Given the description of an element on the screen output the (x, y) to click on. 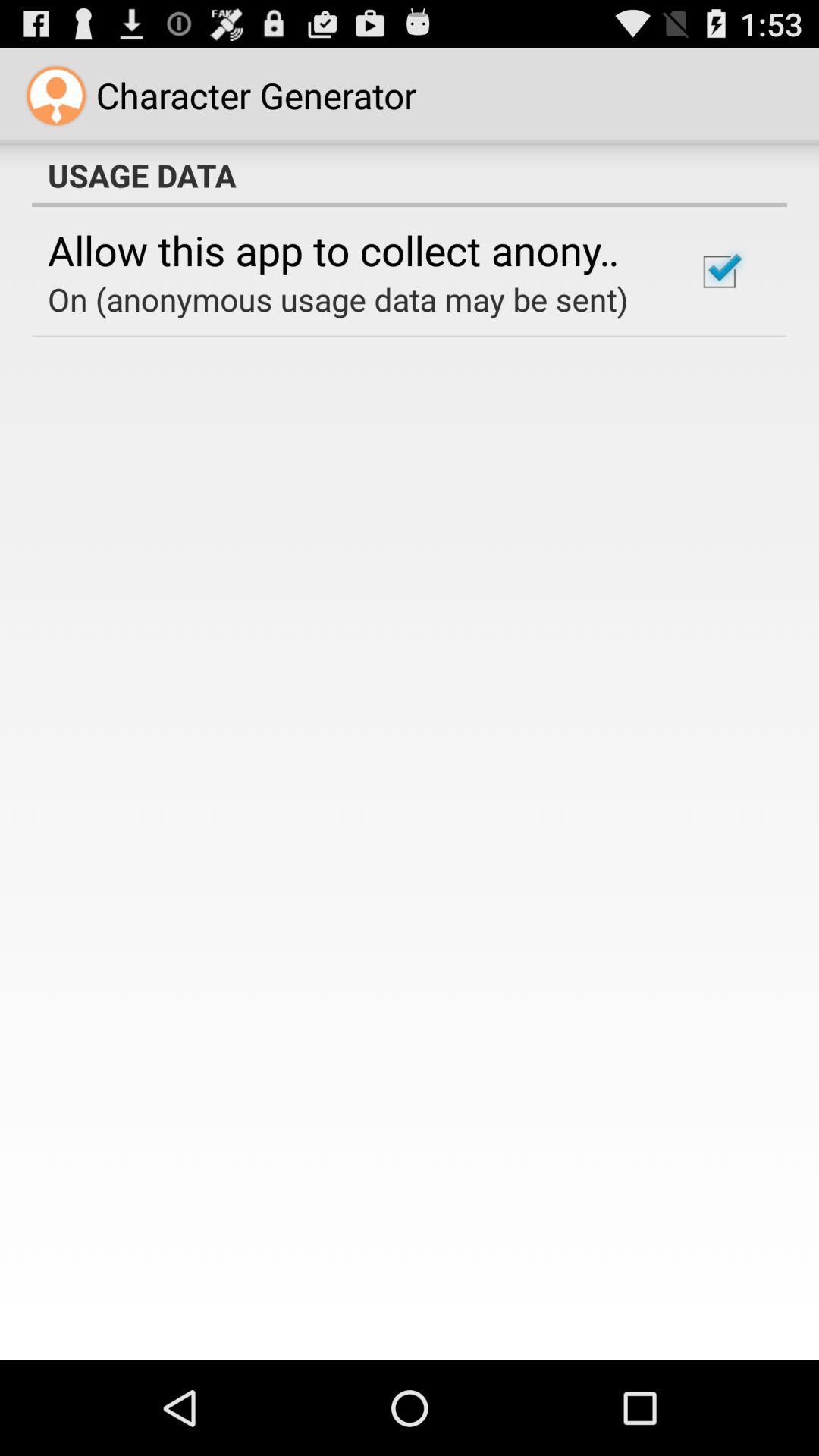
open item to the right of allow this app (719, 271)
